Given the description of an element on the screen output the (x, y) to click on. 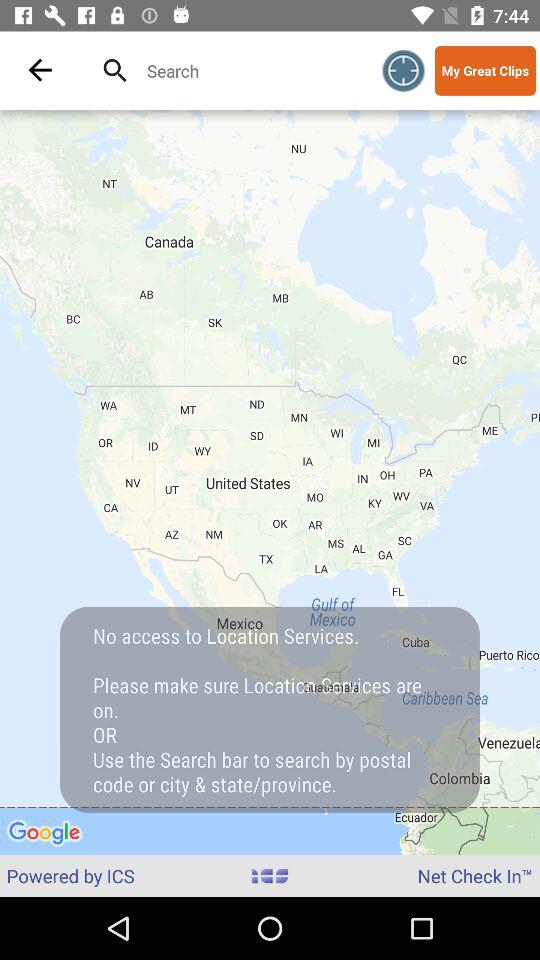
turn on the icon next to my great clips item (403, 70)
